Given the description of an element on the screen output the (x, y) to click on. 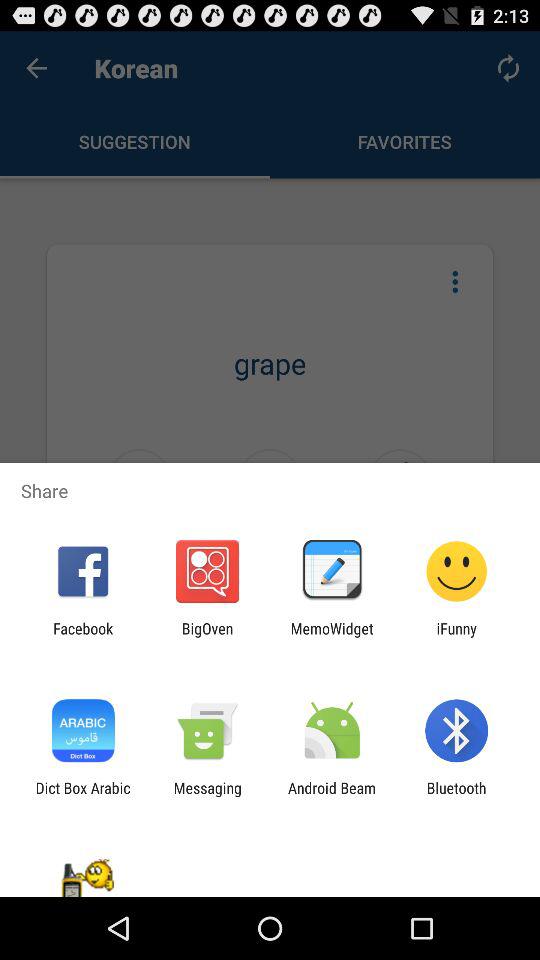
turn off the icon next to the messaging item (82, 796)
